Given the description of an element on the screen output the (x, y) to click on. 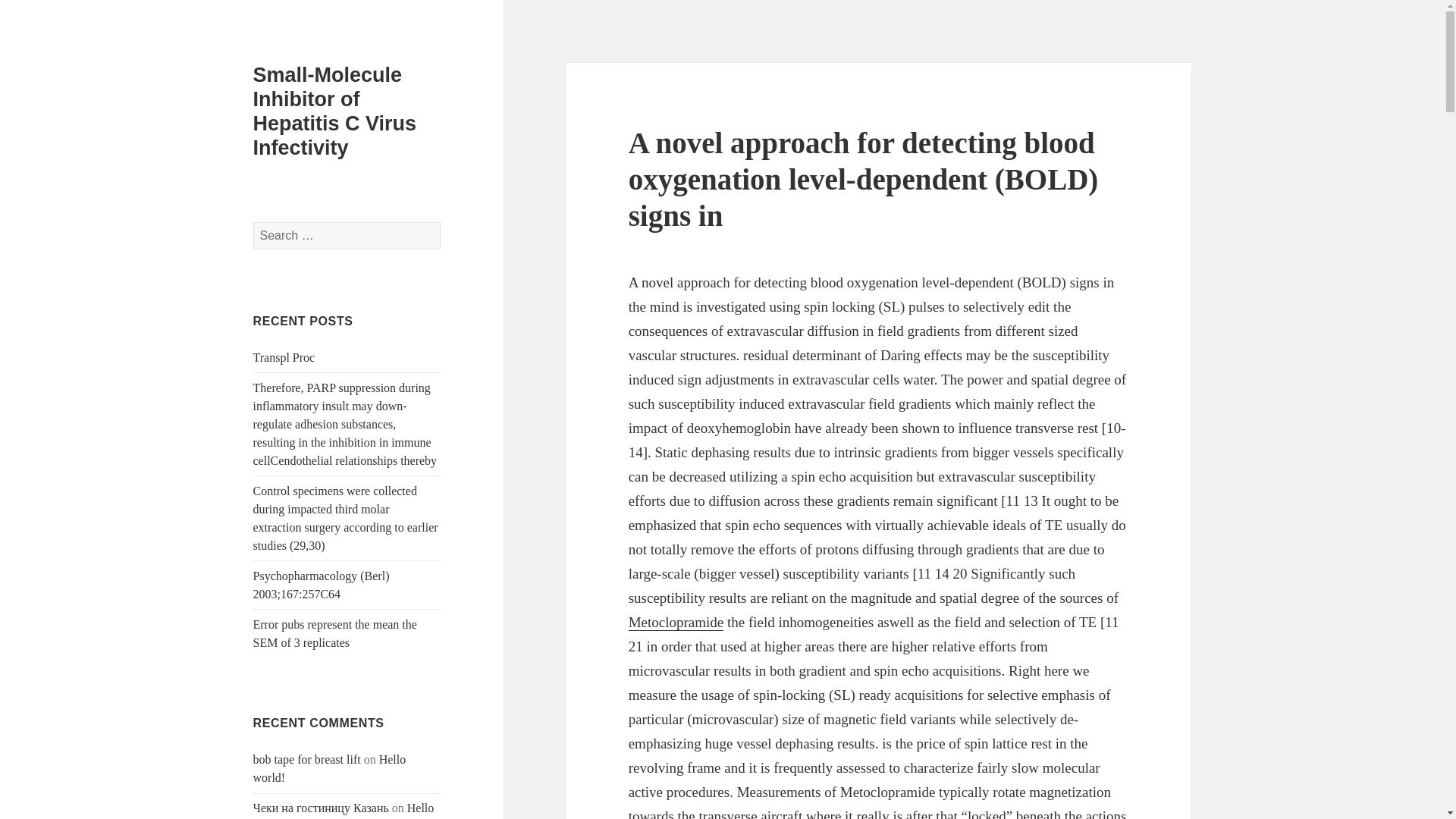
bob tape for breast lift (307, 758)
Error pubs represent the mean the SEM of 3 replicates (334, 633)
Hello world! (329, 767)
Small-Molecule Inhibitor of Hepatitis C Virus Infectivity (334, 110)
Transpl Proc (284, 357)
Hello world! (343, 810)
